Given the description of an element on the screen output the (x, y) to click on. 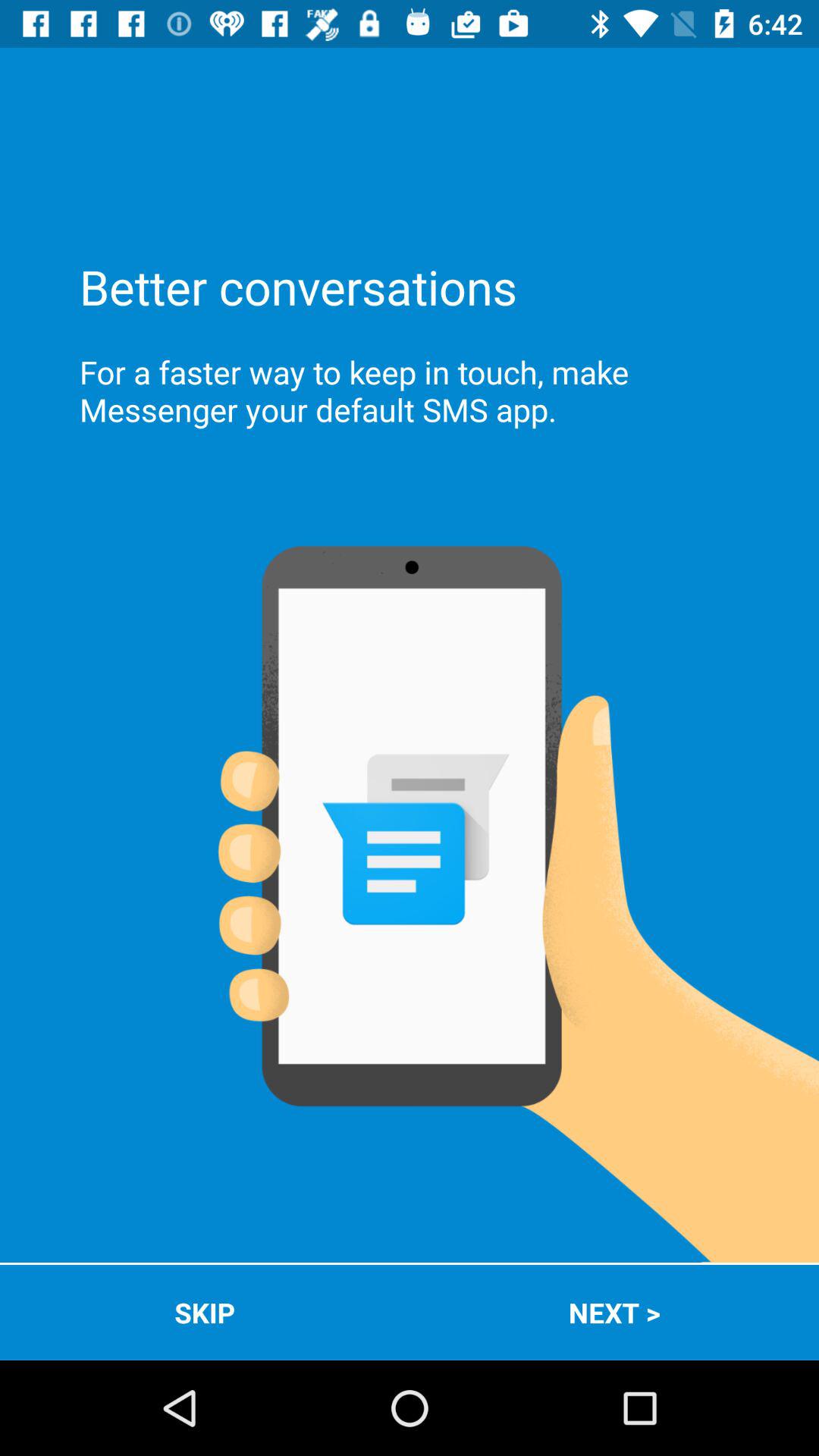
tap the skip app (204, 1312)
